Given the description of an element on the screen output the (x, y) to click on. 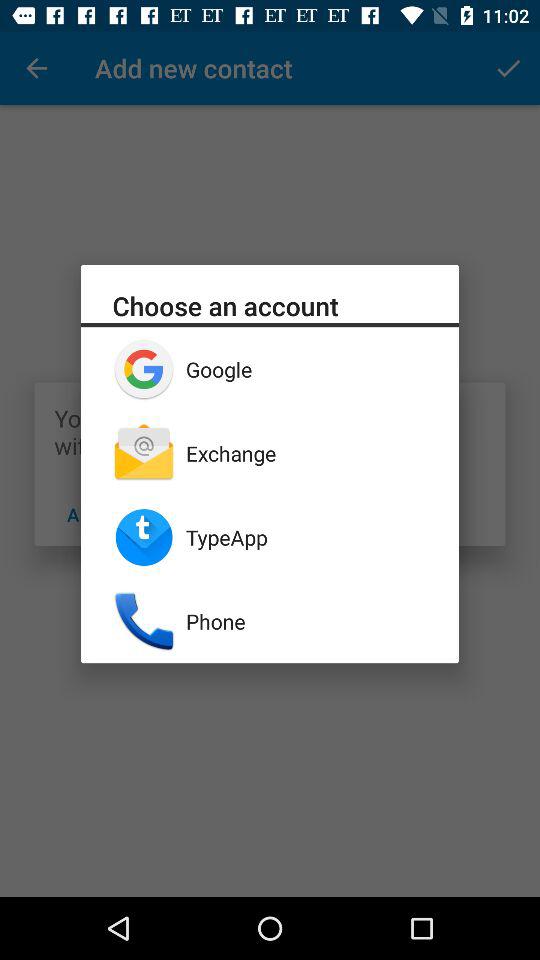
scroll to typeapp (306, 537)
